Given the description of an element on the screen output the (x, y) to click on. 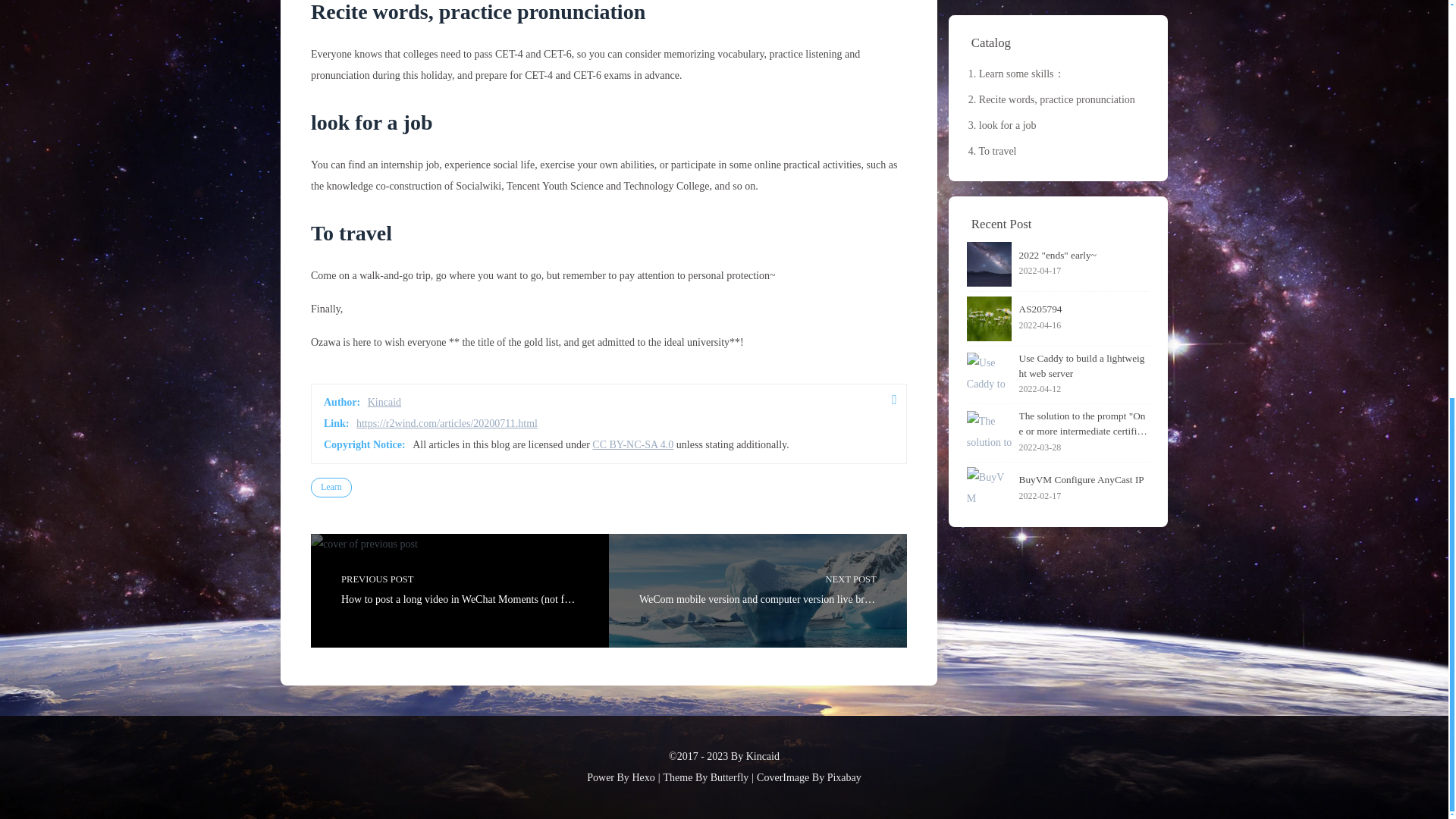
Use Caddy to build a lightweight web server (988, 31)
CC BY-NC-SA 4.0 (632, 444)
Learn (331, 487)
Kincaid (384, 401)
